Given the description of an element on the screen output the (x, y) to click on. 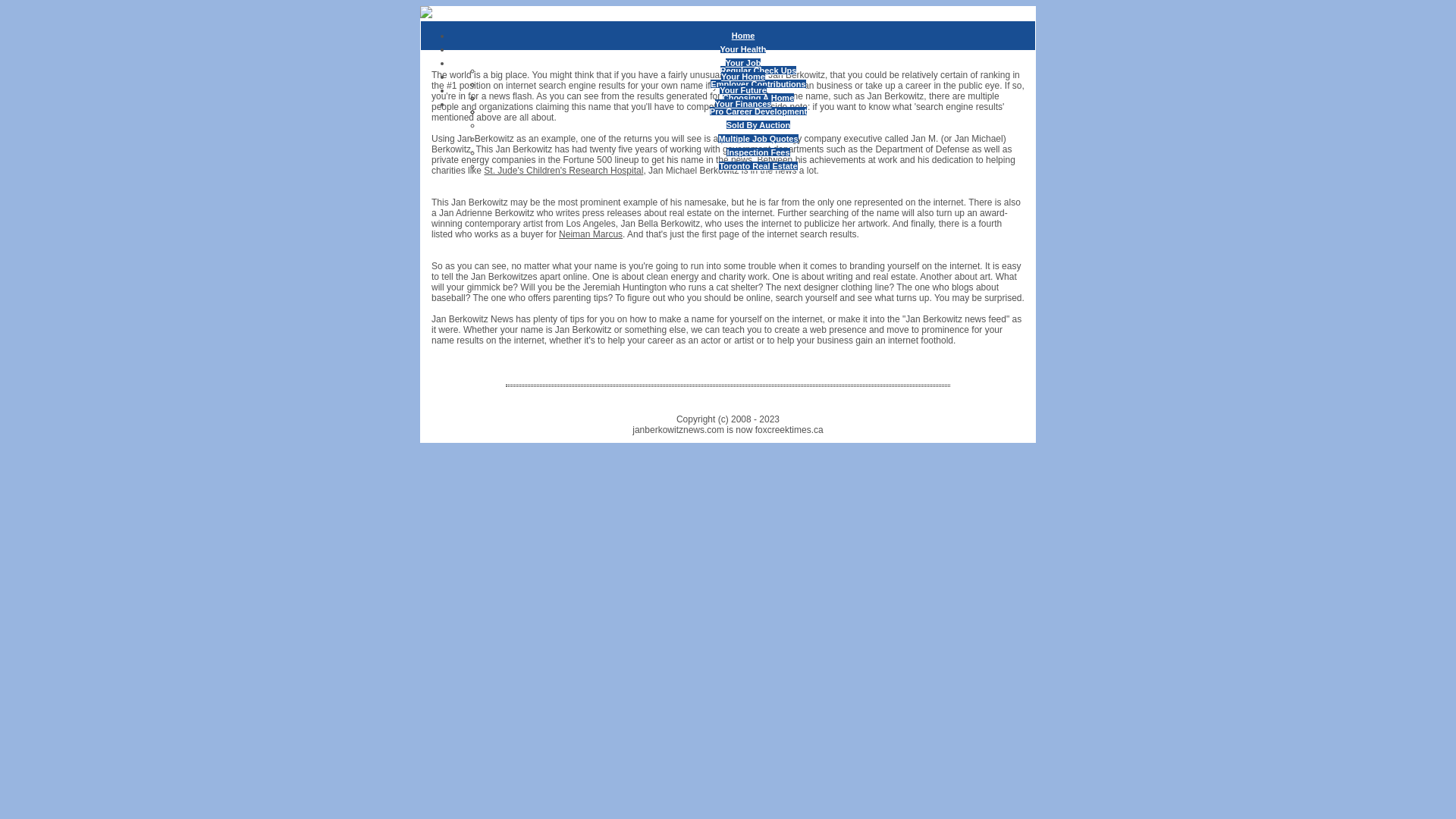
Your Finances Element type: text (742, 103)
Choosing A Home Element type: text (758, 97)
Your Home Element type: text (743, 76)
Employer Contributions Element type: text (757, 83)
Your Future Element type: text (742, 89)
Multiple Job Quotes Element type: text (757, 138)
Your Health Element type: text (743, 48)
Inspection Fees Element type: text (757, 151)
Sold By Auction Element type: text (758, 124)
Gum Disease Element type: text (757, 97)
Protect What Is Yours Element type: text (757, 111)
Neiman Marcus Element type: text (590, 234)
Regular Check Ups Element type: text (758, 70)
Genetics Element type: text (757, 83)
Your Job Element type: text (743, 62)
Pro Career Development Element type: text (757, 111)
Toronto Real Estate Element type: text (757, 165)
Promotions Element type: text (757, 97)
Home Element type: text (743, 35)
Medical Coverage Element type: text (757, 111)
St. Jude's Children's Research Hospital Element type: text (563, 170)
